Given the description of an element on the screen output the (x, y) to click on. 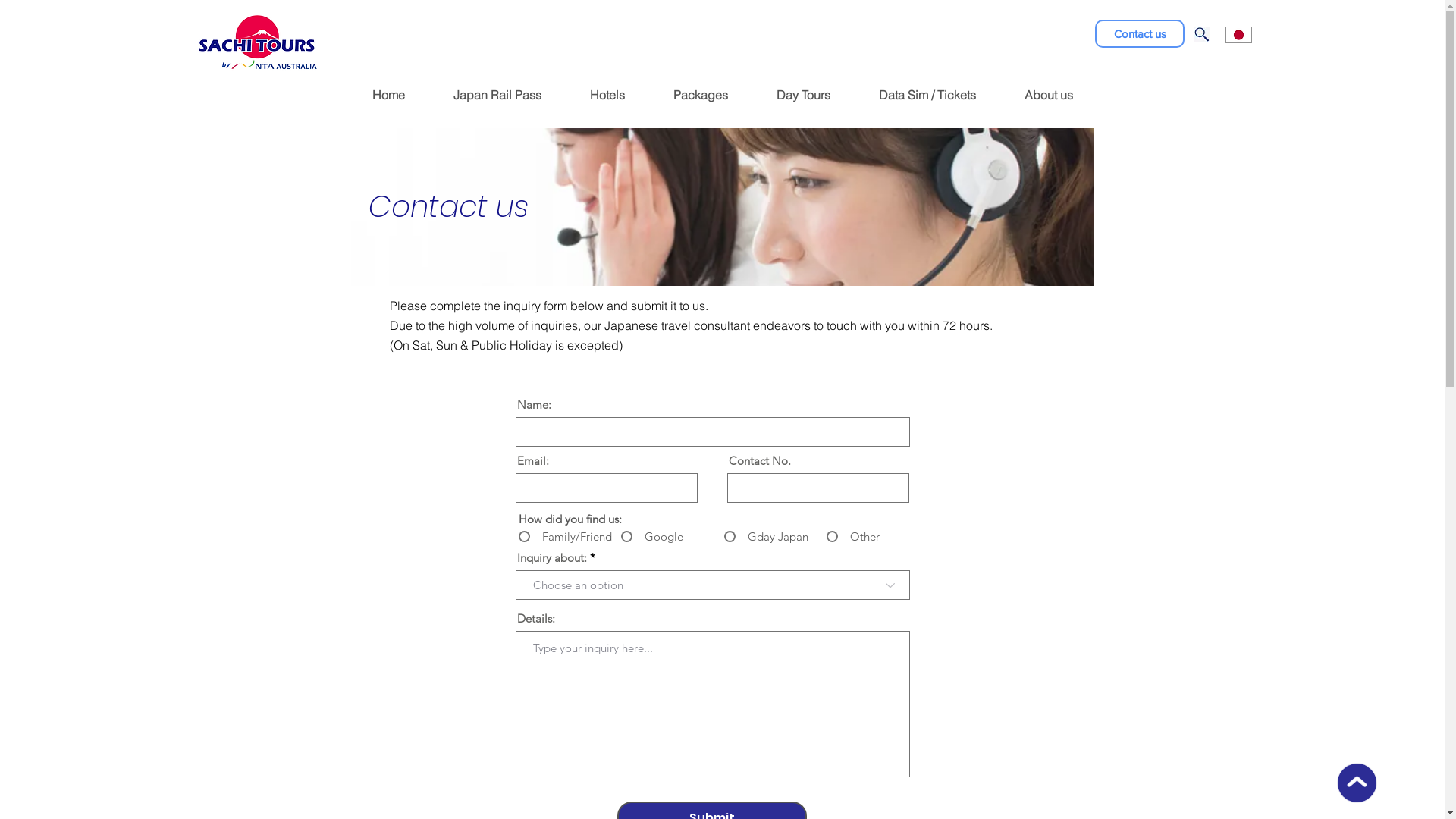
Data Sim / Tickets Element type: text (926, 97)
About us Element type: text (1047, 97)
Packages Element type: text (700, 97)
Japan Rail Pass Element type: text (497, 97)
Home Element type: text (387, 97)
Day Tours Element type: text (803, 97)
Japanese Site Element type: hover (1238, 34)
Contact us Element type: text (1139, 33)
Hotels Element type: text (607, 97)
